Given the description of an element on the screen output the (x, y) to click on. 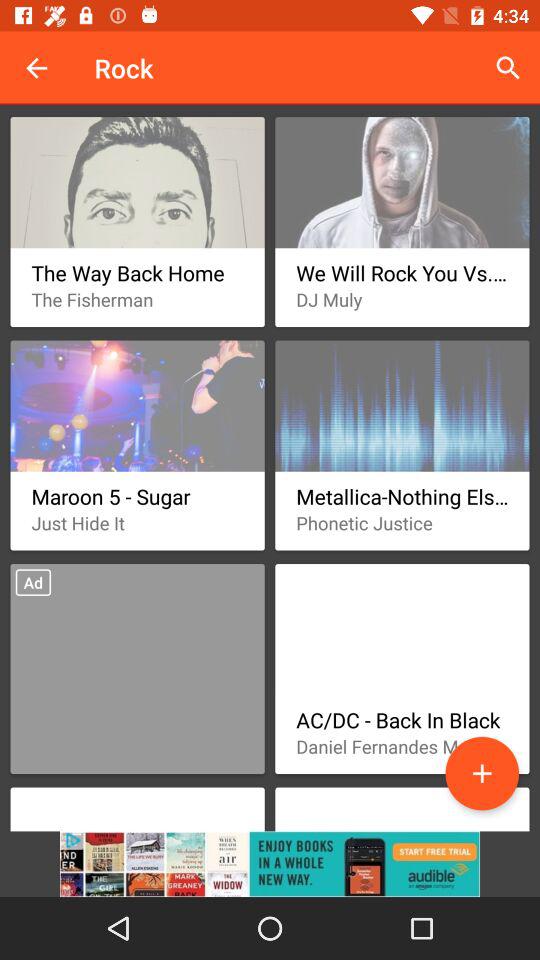
add the data (482, 773)
